Given the description of an element on the screen output the (x, y) to click on. 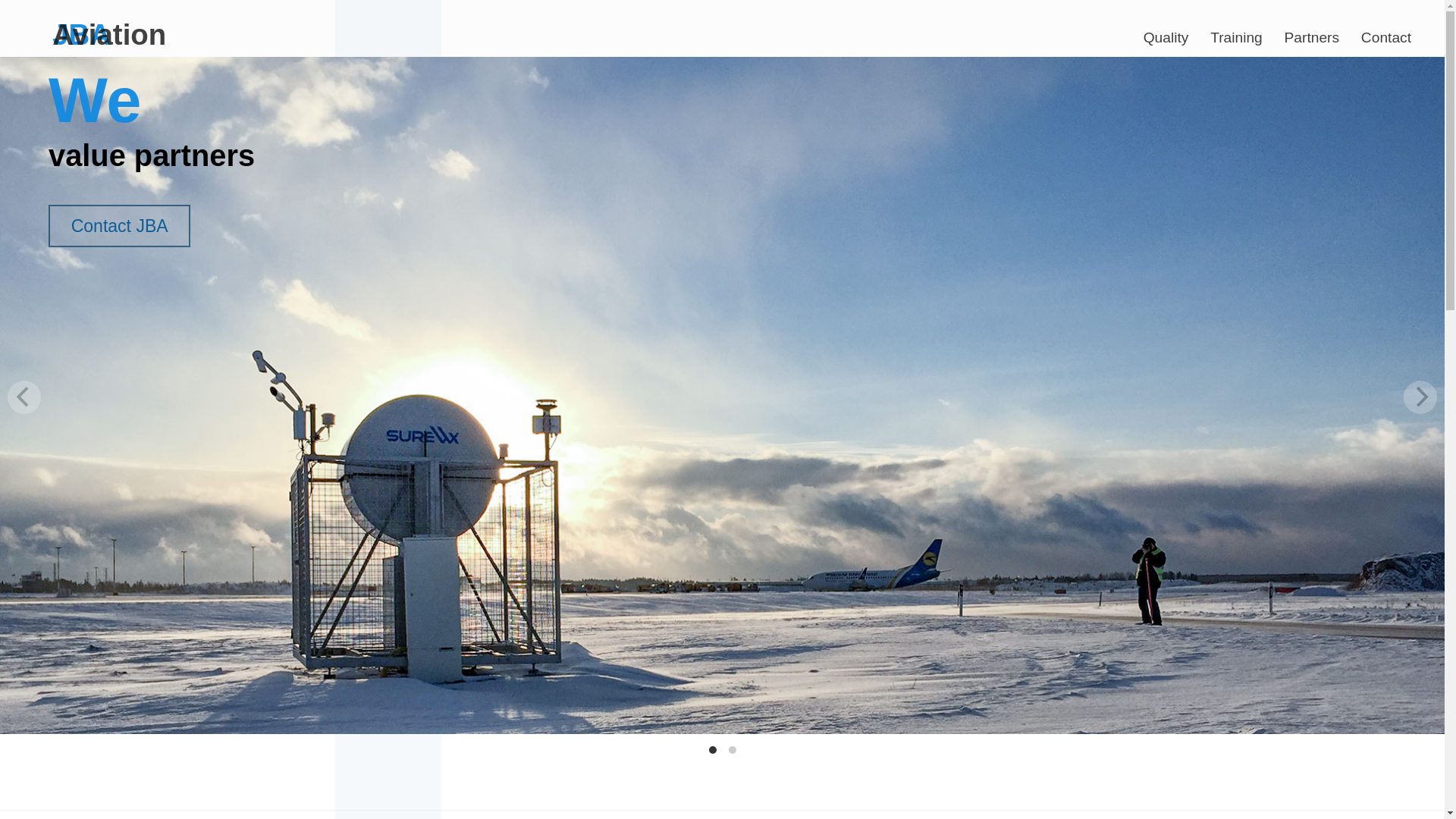
Contact (1386, 32)
Partners (1311, 32)
Contact JBA (119, 226)
Training (1236, 32)
Quality (1165, 32)
JBA Aviation (132, 22)
